Given the description of an element on the screen output the (x, y) to click on. 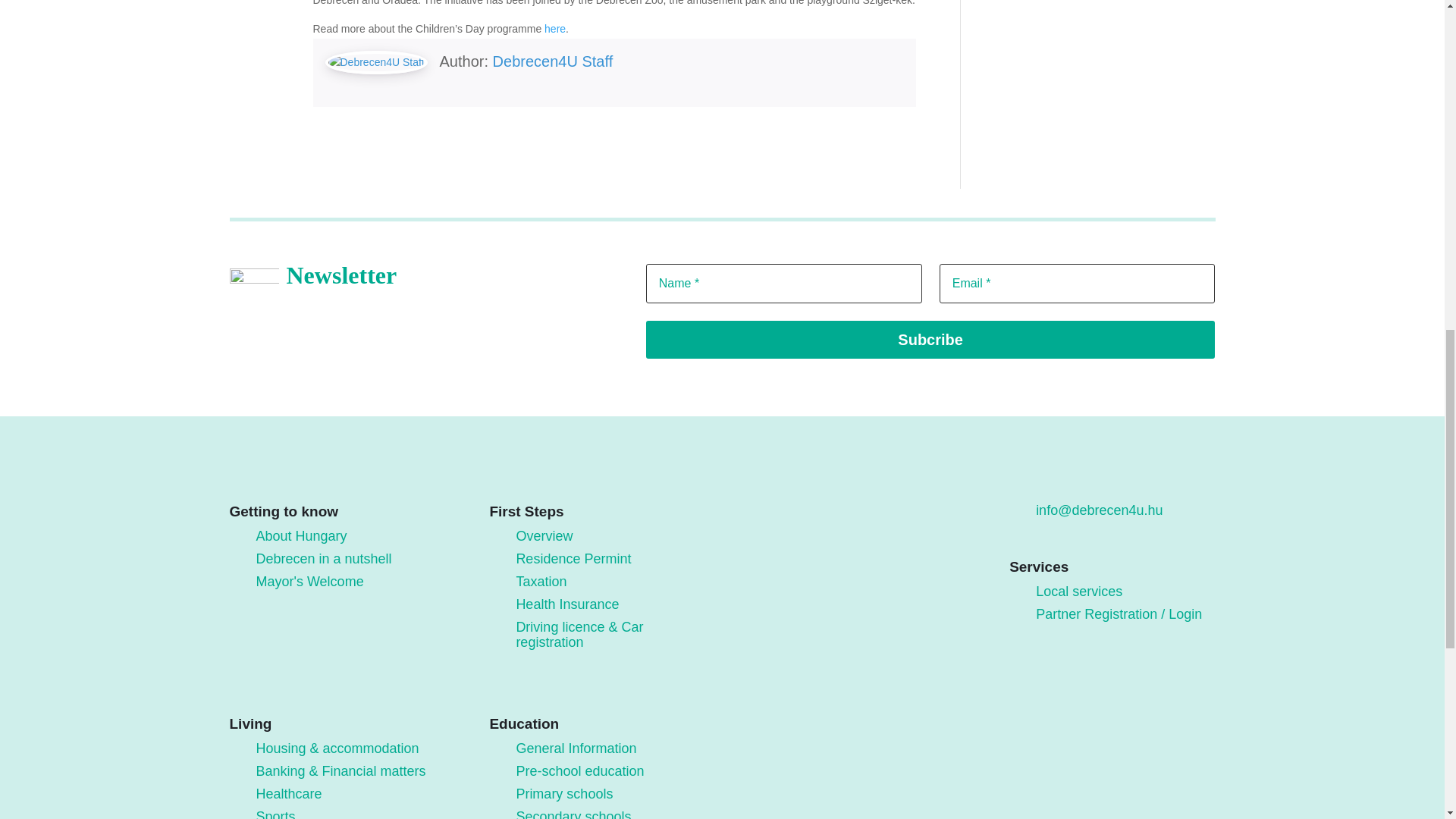
Follow on LinkedIn (872, 499)
Education (424, 397)
Living (424, 343)
Follow on Instagram (809, 499)
First Steps (424, 289)
News (424, 559)
Follow on Facebook (777, 499)
Follow on Youtube (840, 499)
